Given the description of an element on the screen output the (x, y) to click on. 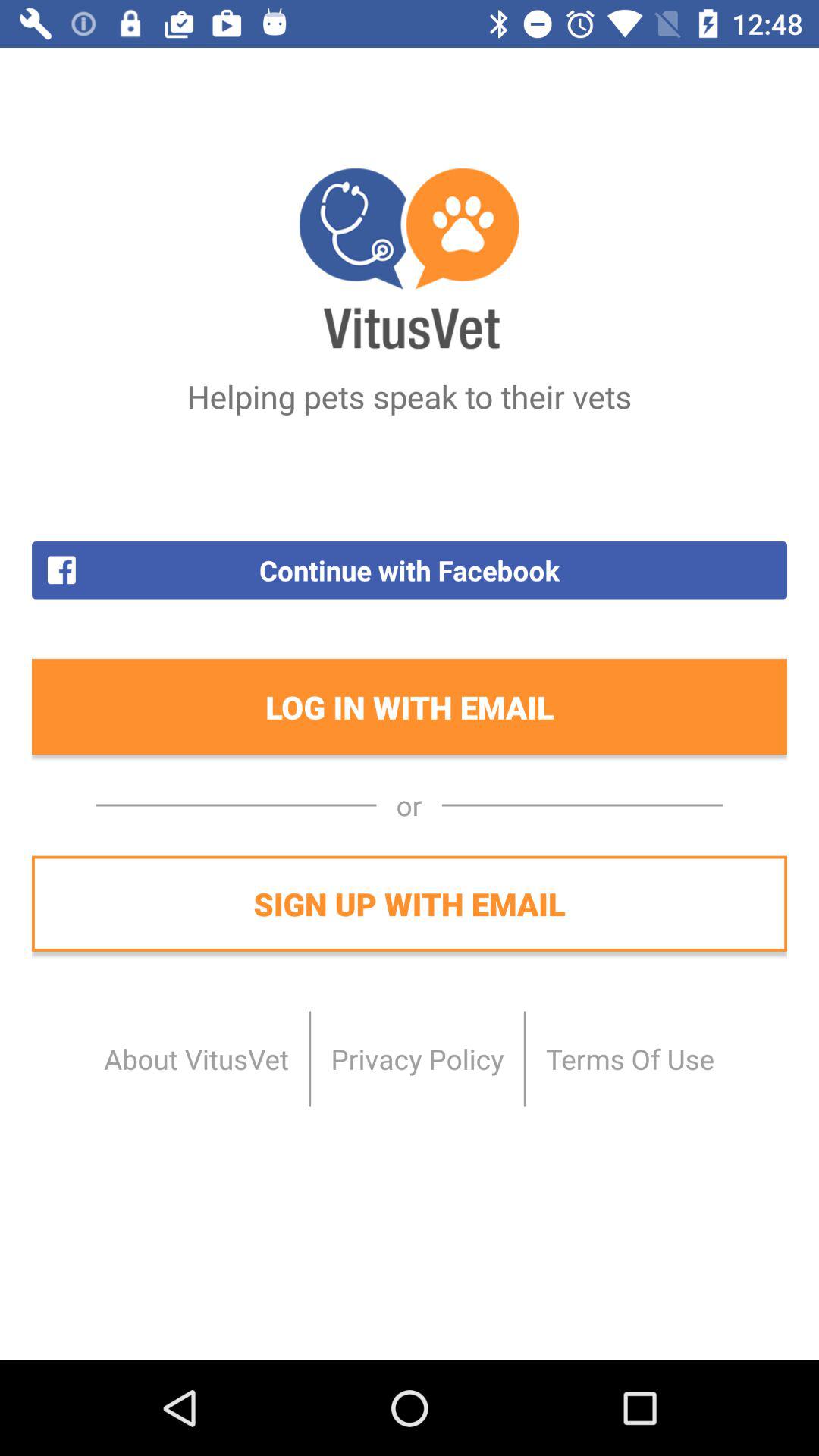
press continue with facebook (409, 570)
